Given the description of an element on the screen output the (x, y) to click on. 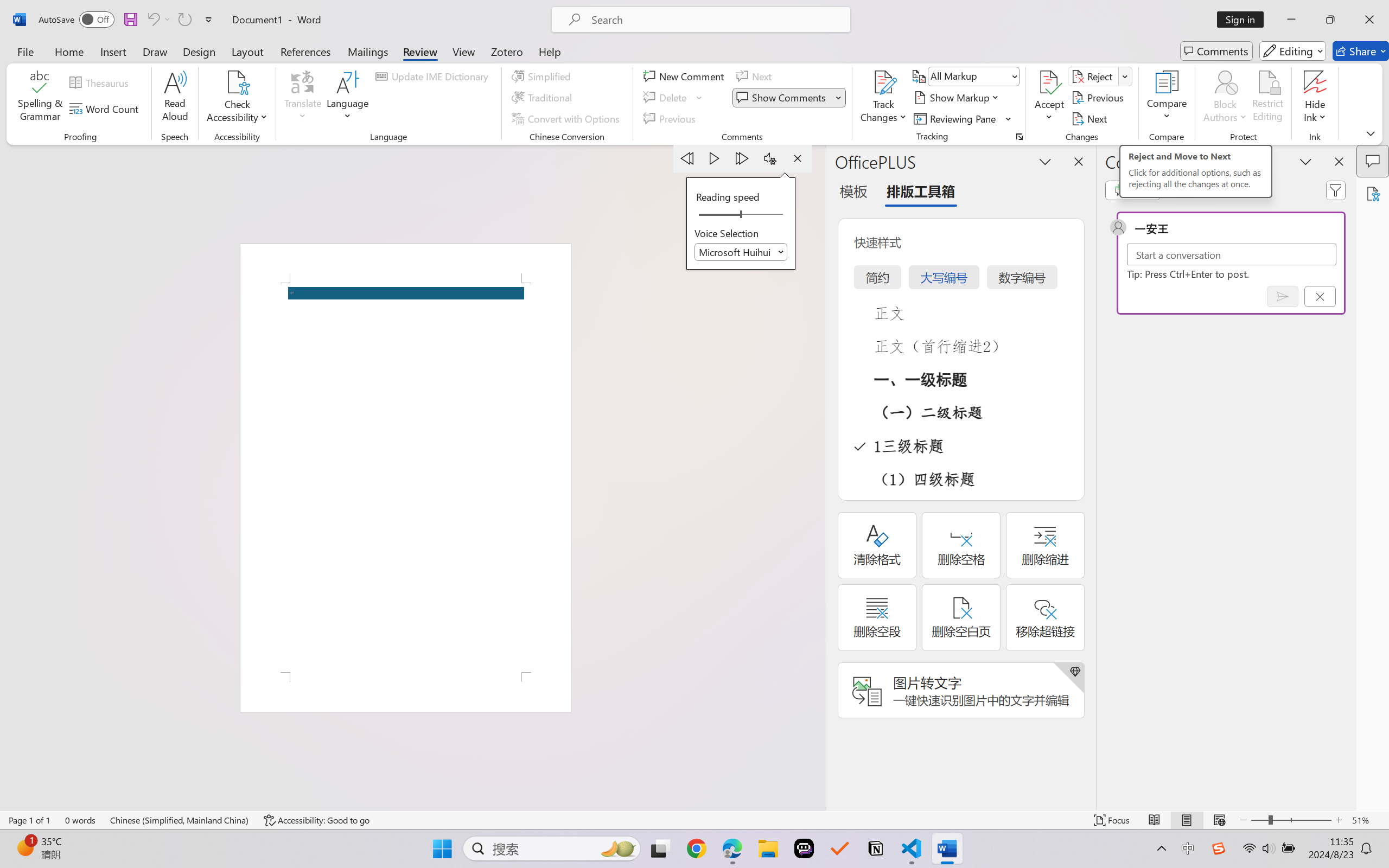
Settings (770, 158)
Undo Apply Quick Style Set (152, 19)
Reject (1100, 75)
Update IME Dictionary... (433, 75)
Page left (716, 214)
Reviewing Pane (962, 118)
Convert with Options... (567, 118)
Show Comments (782, 97)
